Given the description of an element on the screen output the (x, y) to click on. 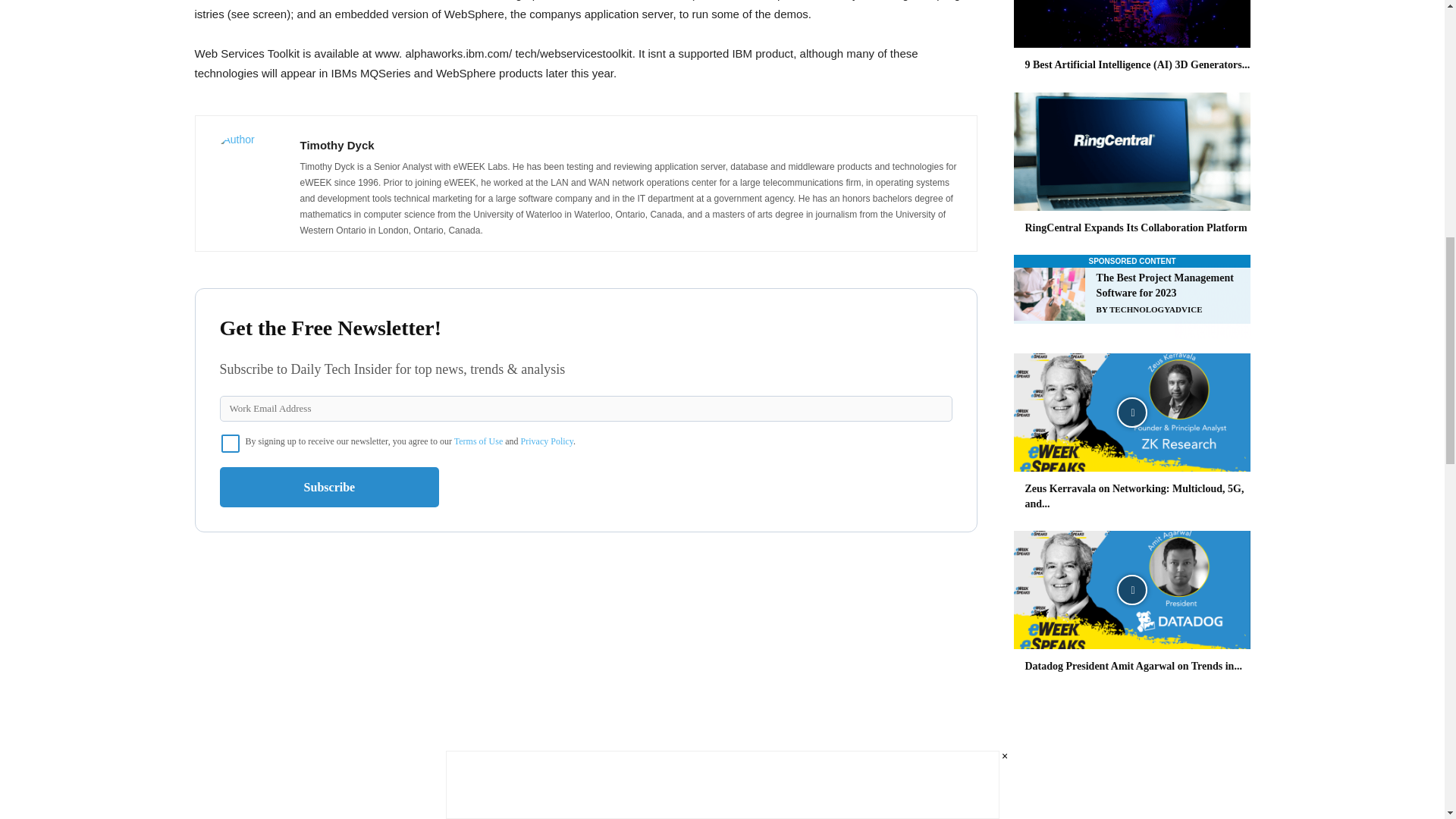
on (230, 443)
RingCentral Expands Its Collaboration Platform (1131, 151)
3rd party ad content (1131, 296)
Zeus Kerravala on Networking: Multicloud, 5G, and Automation (1131, 411)
RingCentral Expands Its Collaboration Platform (1136, 227)
